Given the description of an element on the screen output the (x, y) to click on. 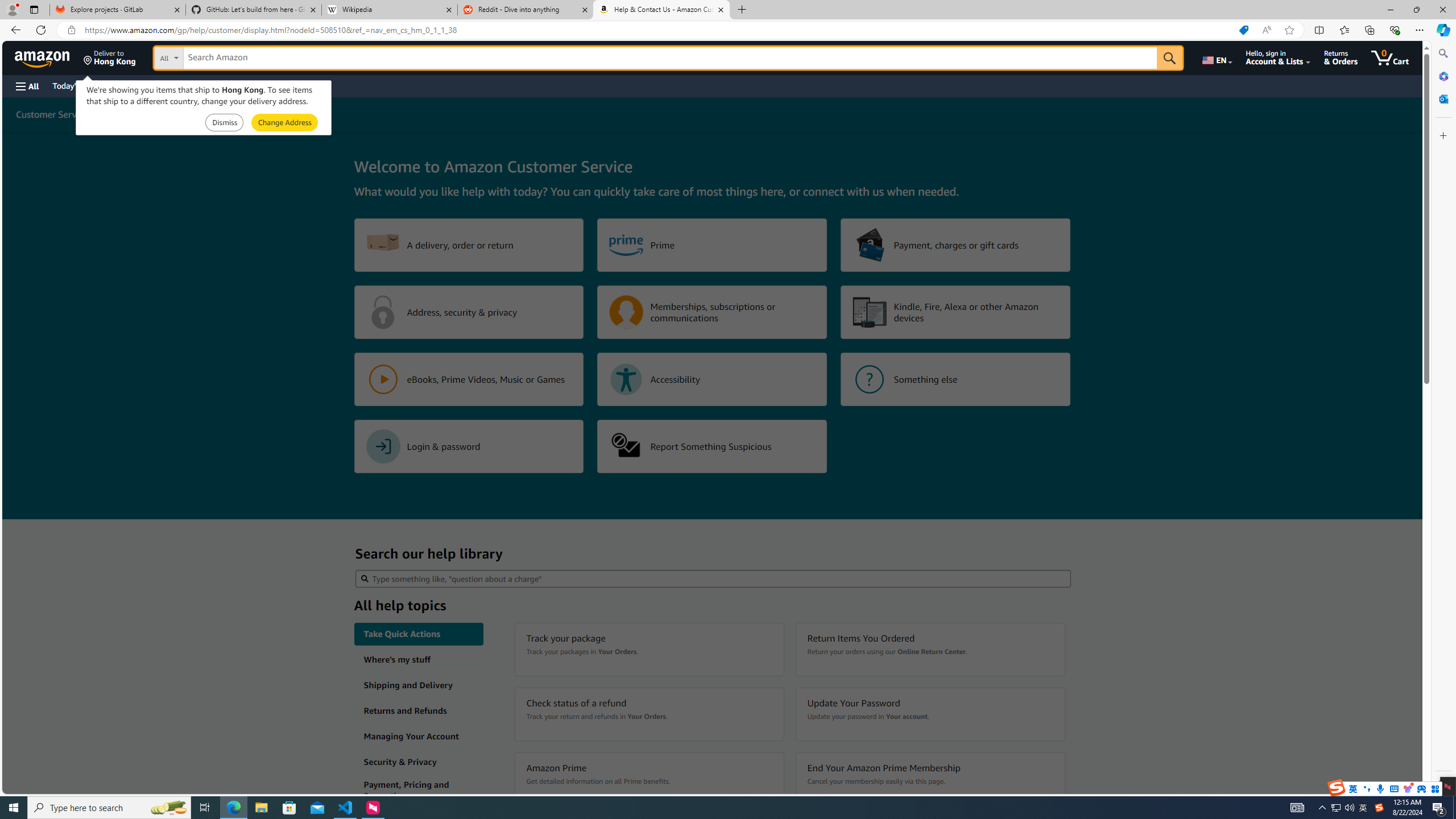
Prime (711, 244)
Submit (284, 122)
Digital Services and Device Support (228, 114)
Returns & Orders (1340, 57)
Kindle, Fire, Alexa or other Amazon devices (955, 312)
Reddit - Dive into anything (525, 9)
Update Your Password Update your password in Your account. (929, 714)
